Given the description of an element on the screen output the (x, y) to click on. 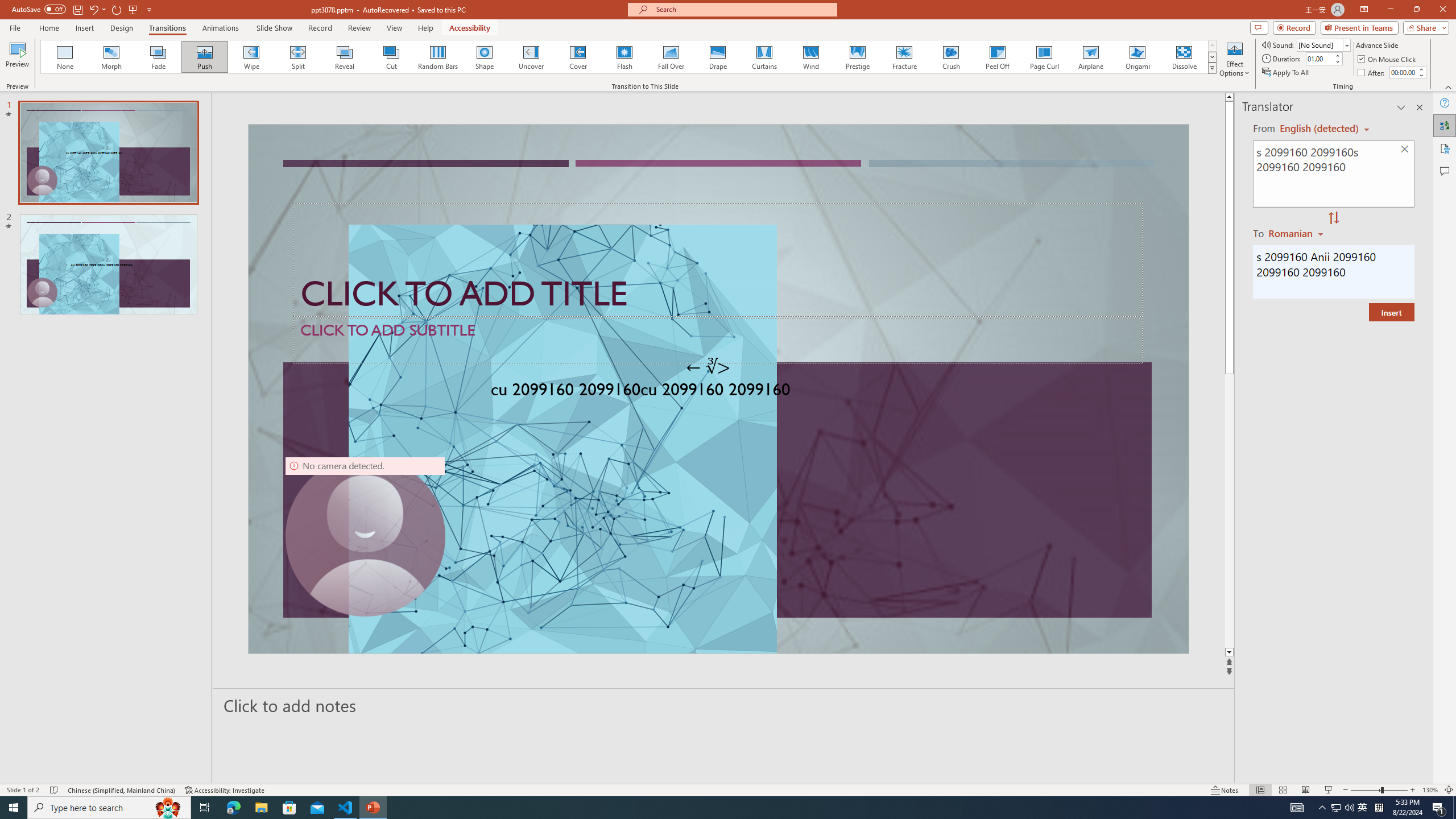
Cover (577, 56)
After (1372, 72)
Fade (158, 56)
Fall Over (670, 56)
An abstract genetic concept (718, 388)
